Given the description of an element on the screen output the (x, y) to click on. 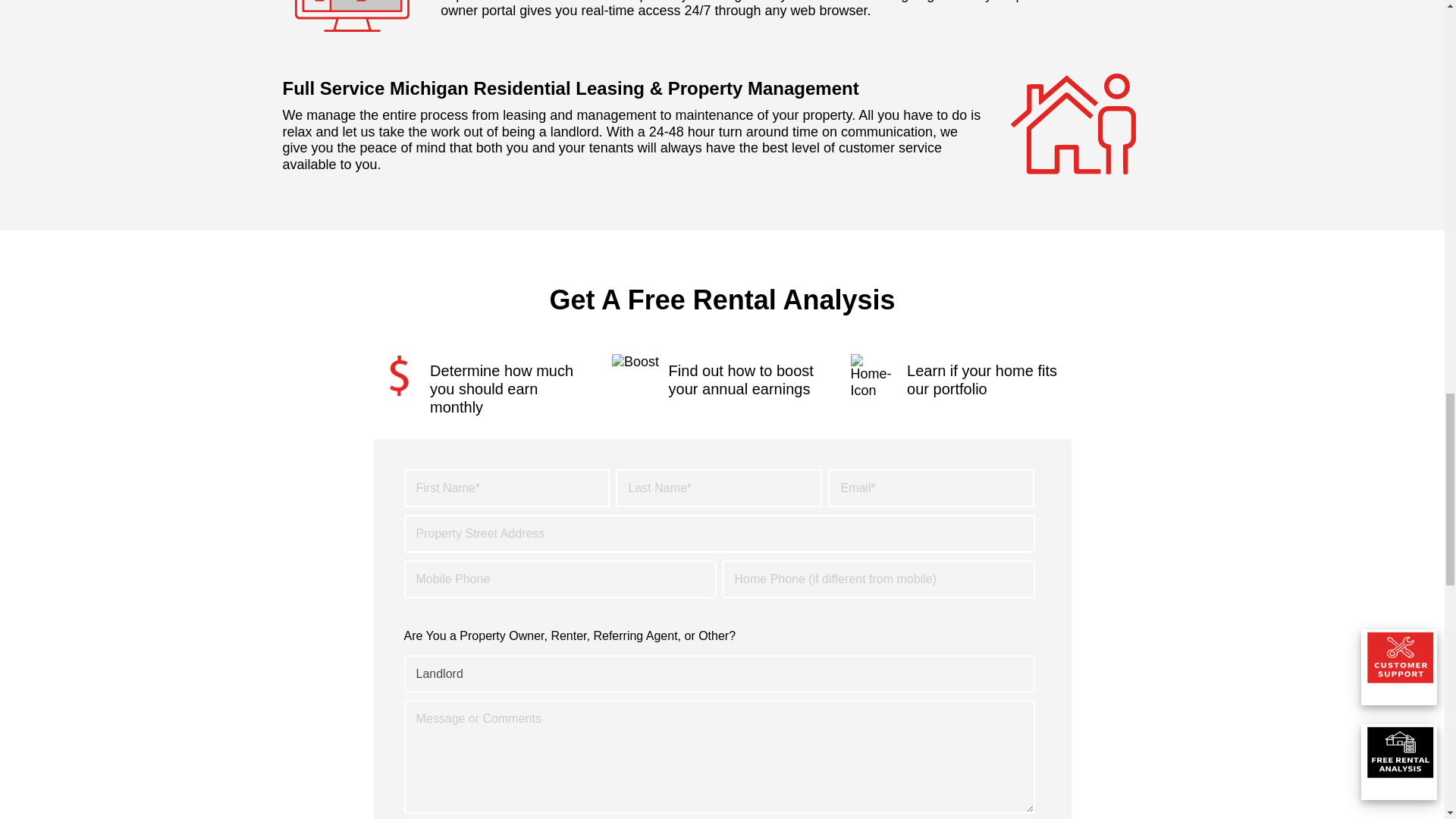
Full-Service-Icon (1073, 123)
Home-Icon (875, 375)
Boost (635, 362)
Dollar-Icon (397, 374)
Owner-Real-Time (351, 20)
